Given the description of an element on the screen output the (x, y) to click on. 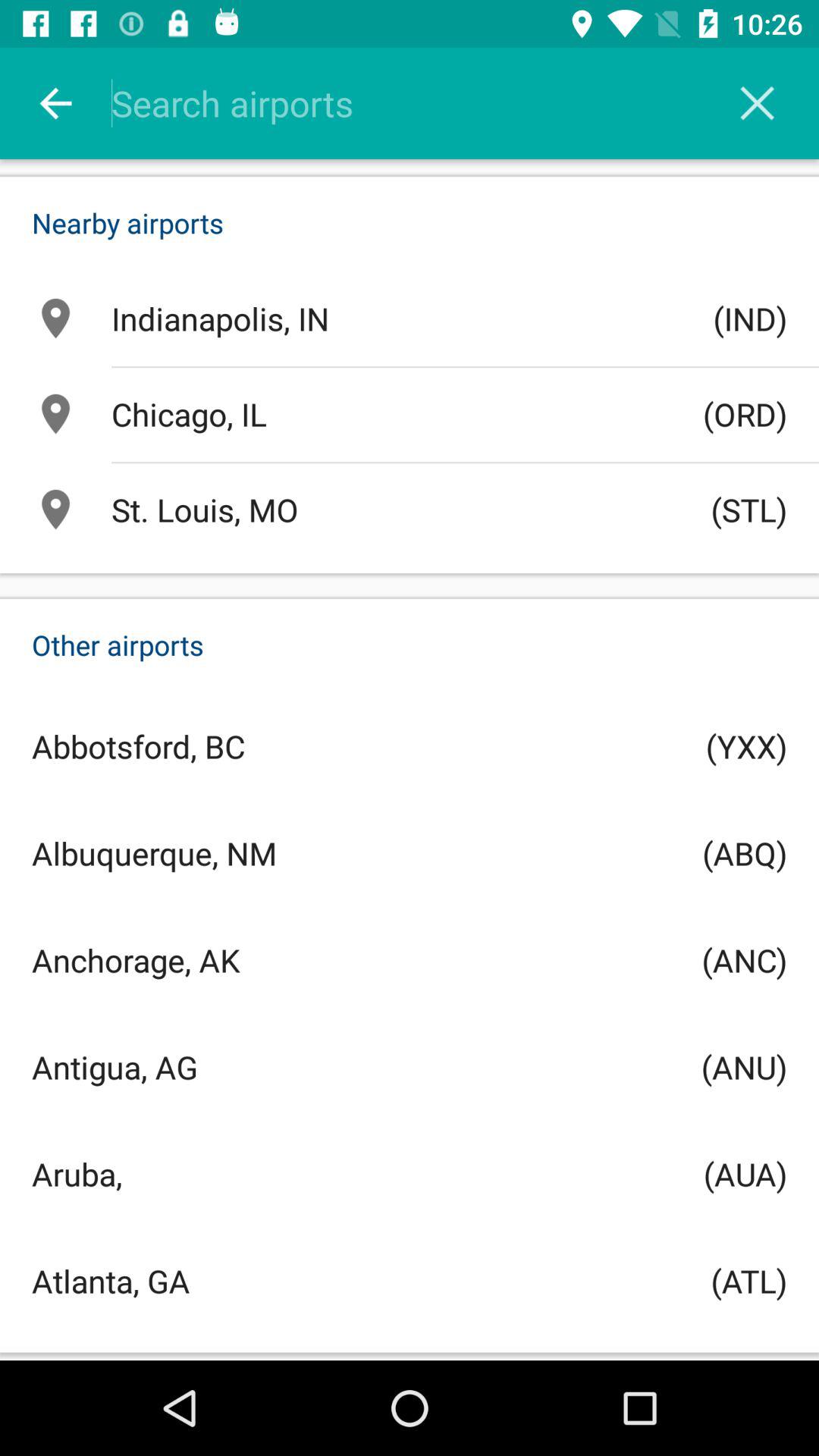
close this (757, 103)
